Given the description of an element on the screen output the (x, y) to click on. 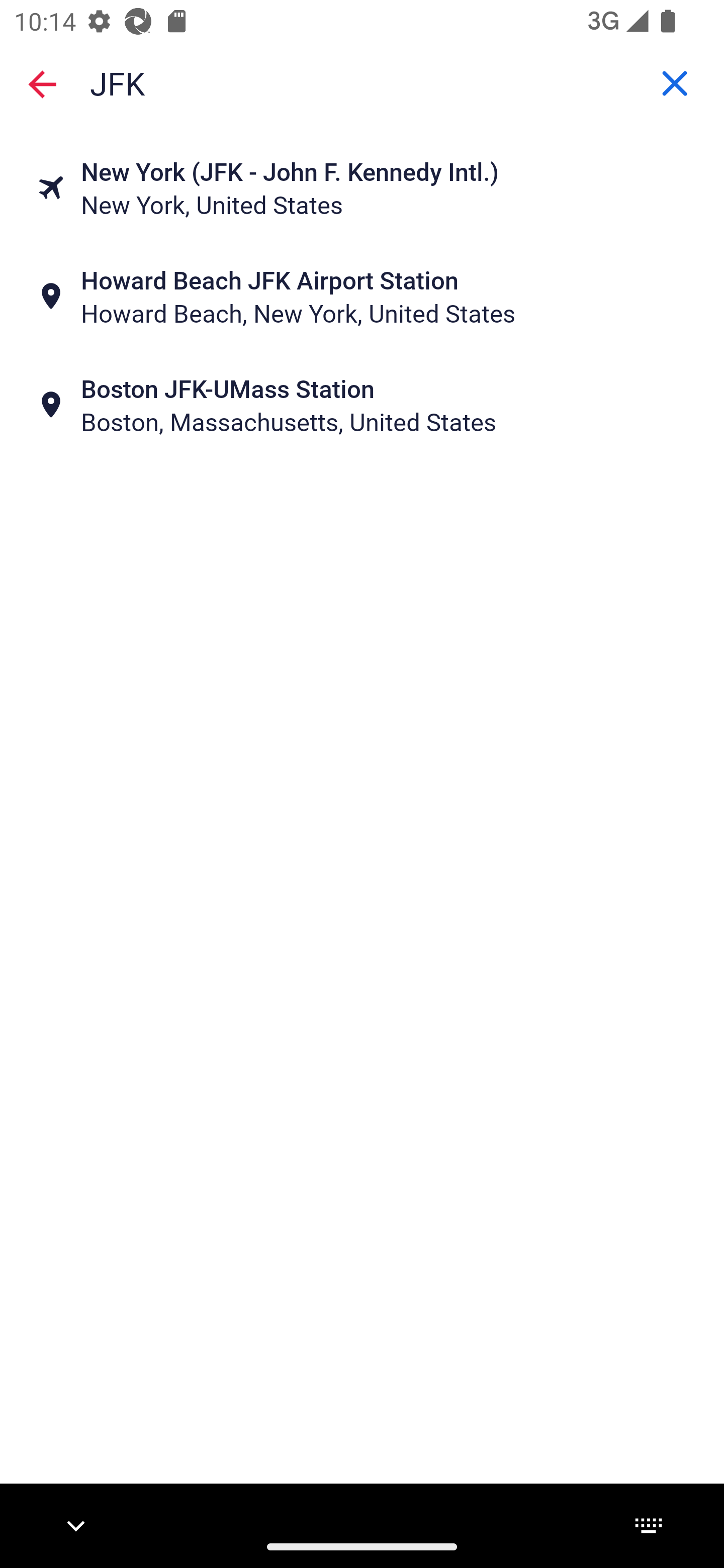
Clear Pick-up (674, 82)
Pick-up, JFK (361, 82)
Close search screen (41, 83)
